Given the description of an element on the screen output the (x, y) to click on. 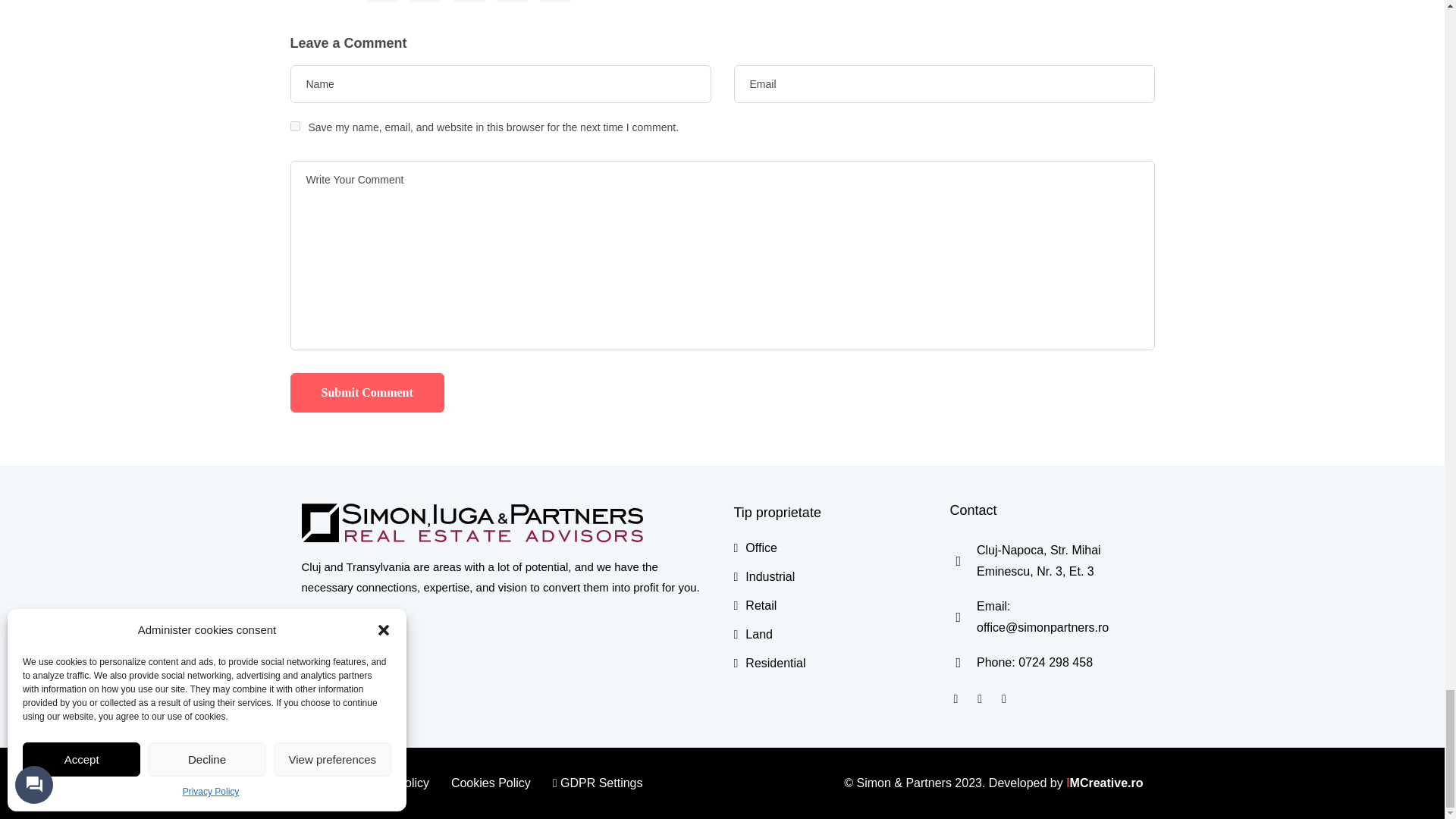
yes (294, 126)
Office (755, 547)
Retail (755, 604)
Industrial (763, 576)
Submit Comment (366, 392)
Submit Comment (366, 392)
